Given the description of an element on the screen output the (x, y) to click on. 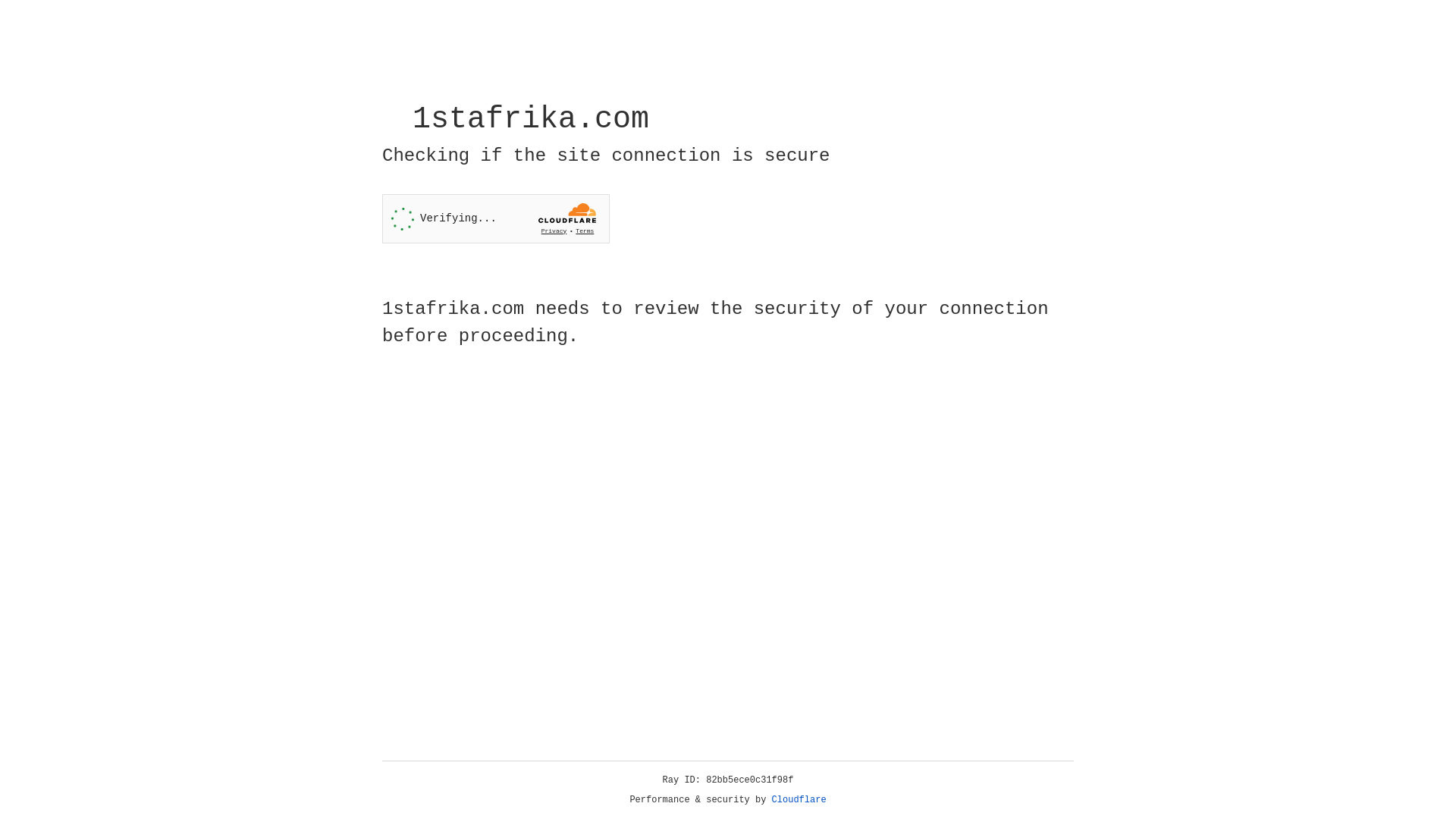
Widget containing a Cloudflare security challenge Element type: hover (495, 218)
Cloudflare Element type: text (798, 799)
